Given the description of an element on the screen output the (x, y) to click on. 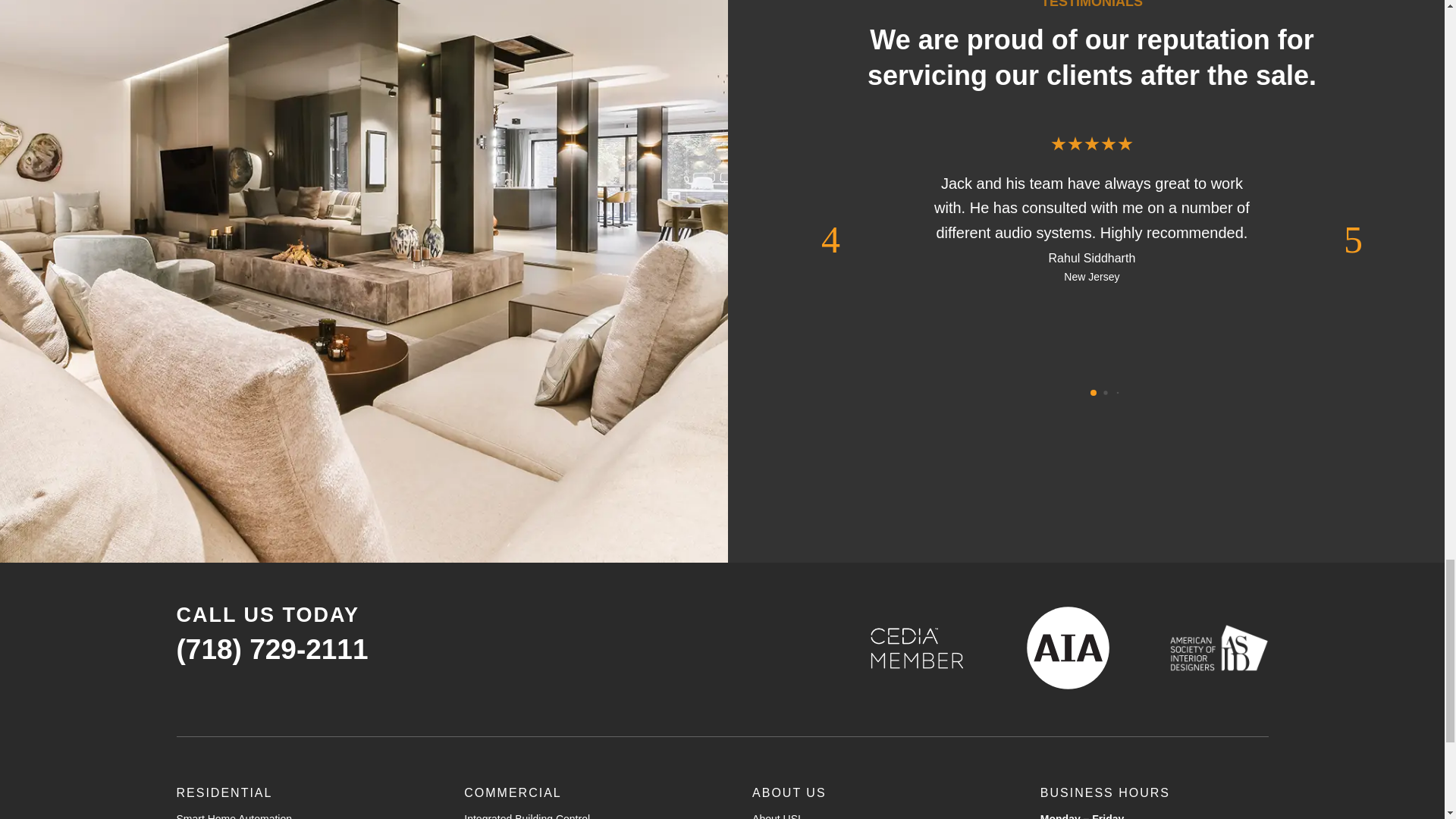
Smart Home Automation (234, 816)
cedia-light (916, 647)
aia-white (1068, 648)
asid-white (1218, 647)
